Given the description of an element on the screen output the (x, y) to click on. 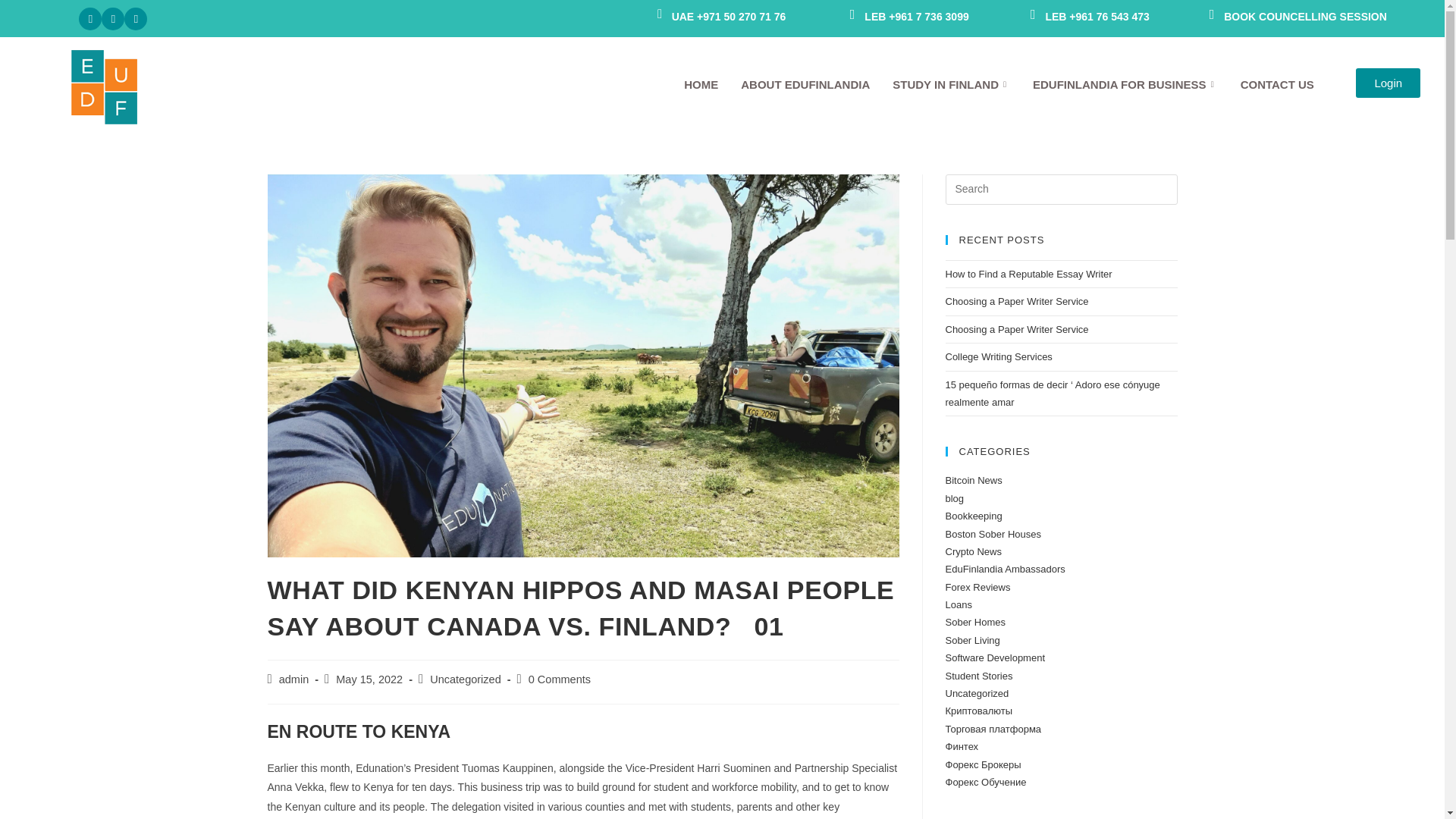
Choosing a Paper Writer Service (1015, 301)
BOOK COUNCELLING SESSION (1294, 16)
College Writing Services (997, 356)
ABOUT EDUFINLANDIA (804, 83)
How to Find a Reputable Essay Writer (1028, 274)
STUDY IN FINLAND (951, 83)
admin (293, 679)
EDUFINLANDIA FOR BUSINESS (1125, 83)
Bitcoin News (972, 480)
Uncategorized (464, 679)
CONTACT US (1276, 83)
Login (1388, 82)
blog (953, 498)
Posts by admin (293, 679)
HOME (700, 83)
